Given the description of an element on the screen output the (x, y) to click on. 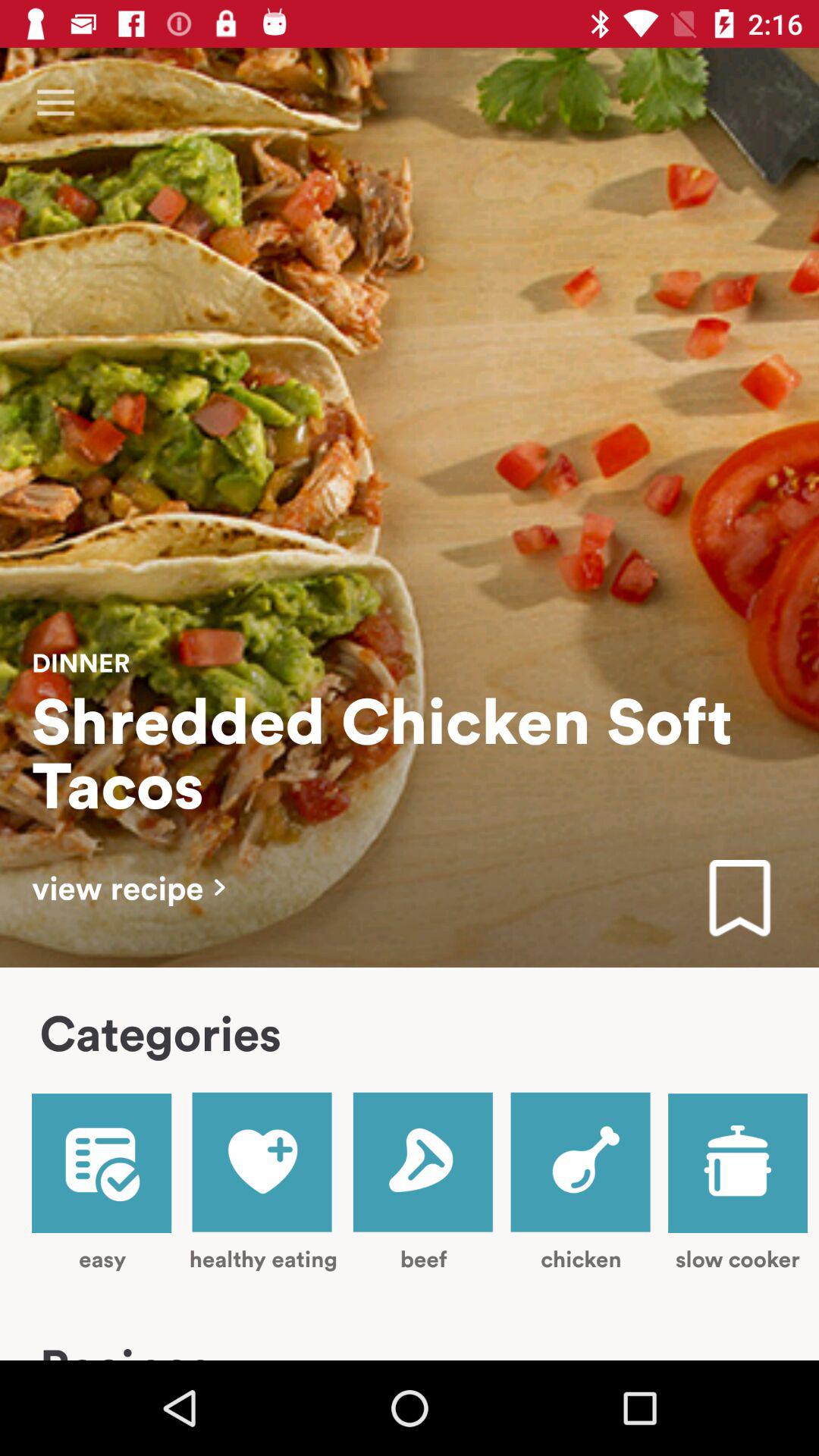
choose item at the top left corner (55, 103)
